Given the description of an element on the screen output the (x, y) to click on. 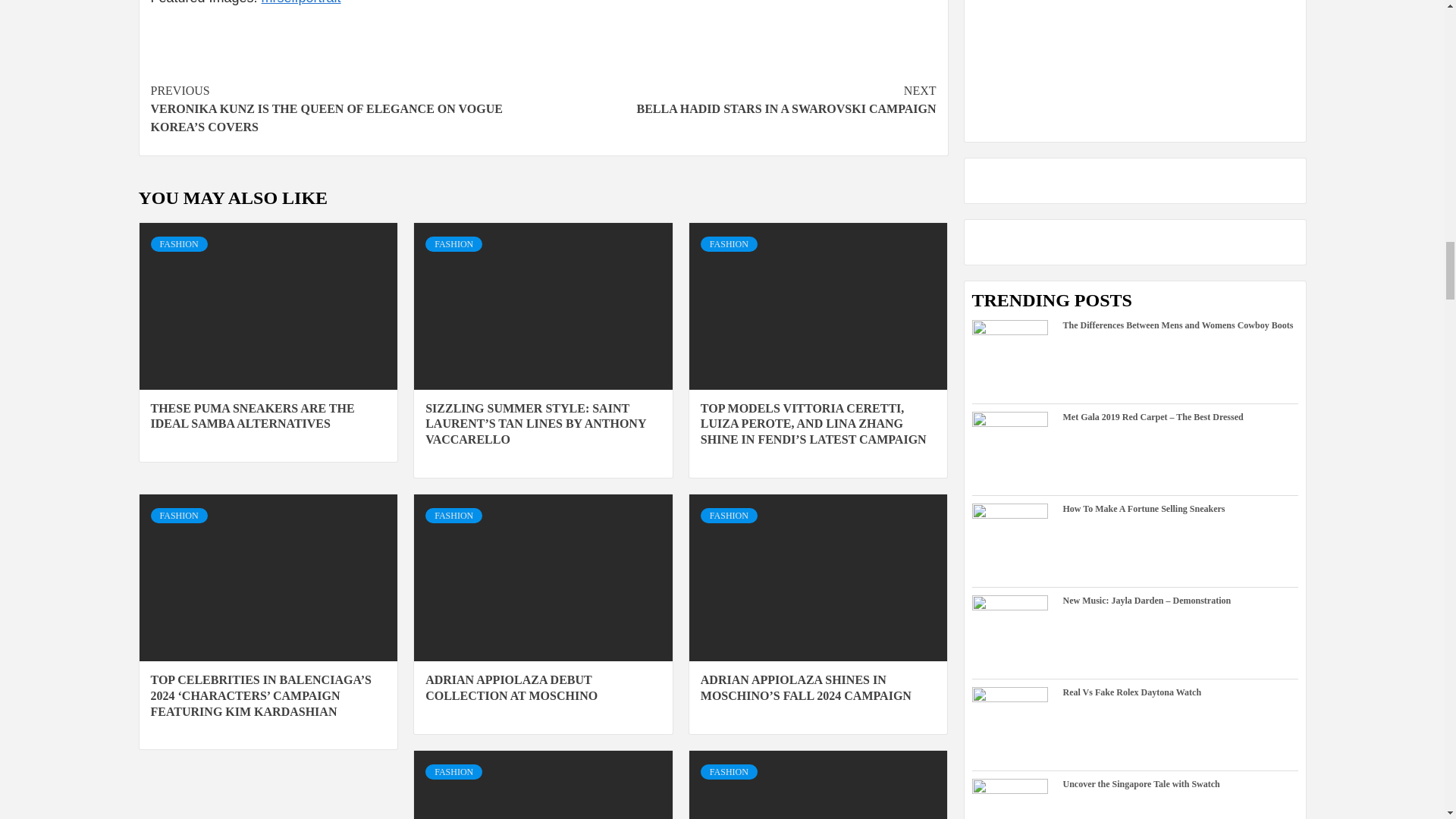
FASHION (177, 243)
THESE PUMA SNEAKERS ARE THE IDEAL SAMBA ALTERNATIVES (251, 416)
mrselfportrait (301, 2)
